Given the description of an element on the screen output the (x, y) to click on. 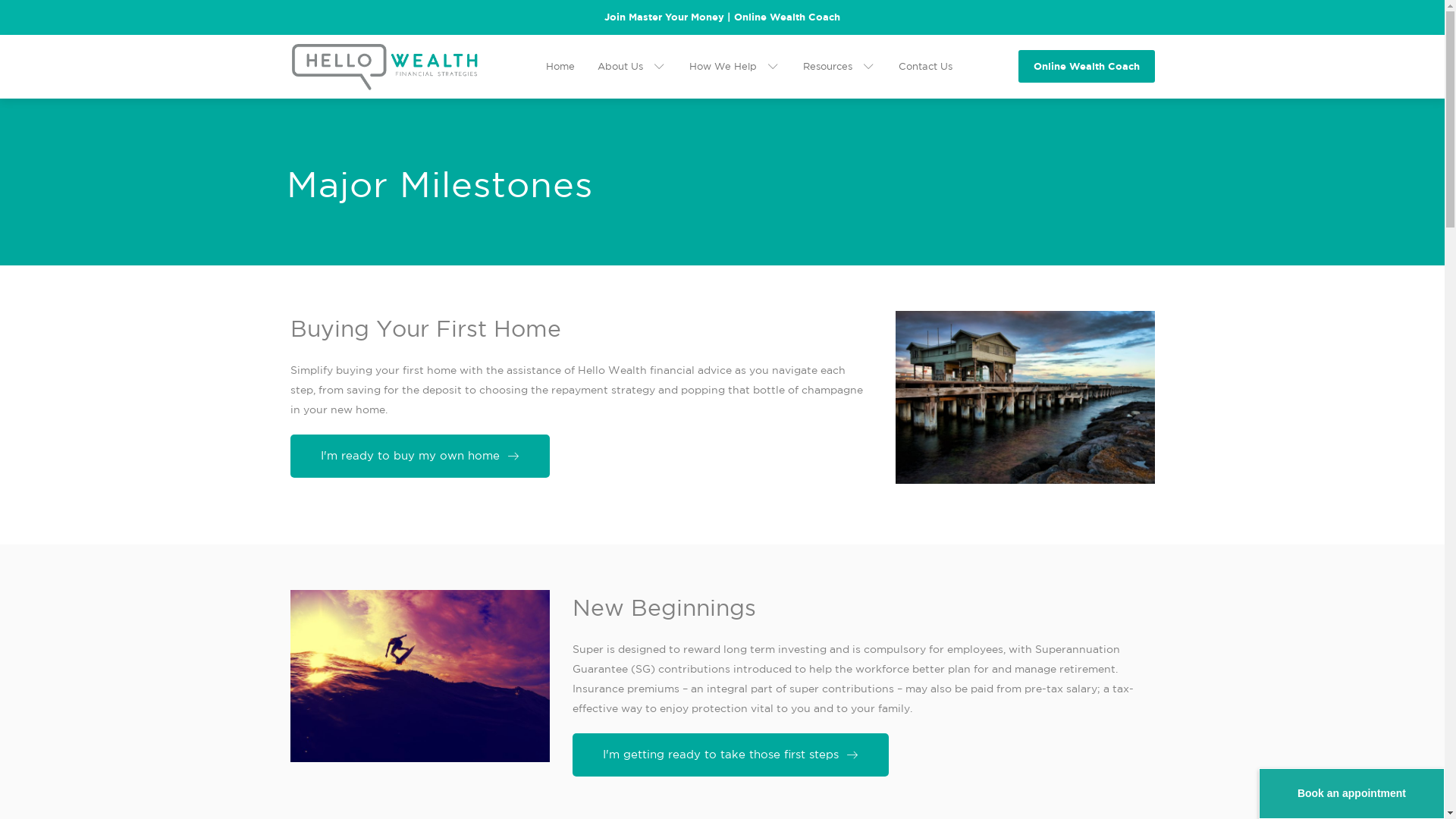
Home Element type: text (560, 66)
Contact Us Element type: text (924, 66)
Online Wealth Coach Element type: text (1085, 66)
I'm ready to buy my own home Element type: text (419, 455)
How We Help Element type: text (733, 66)
I'm getting ready to take those first steps Element type: text (729, 754)
About Us Element type: text (631, 66)
Resources Element type: text (838, 66)
